Given the description of an element on the screen output the (x, y) to click on. 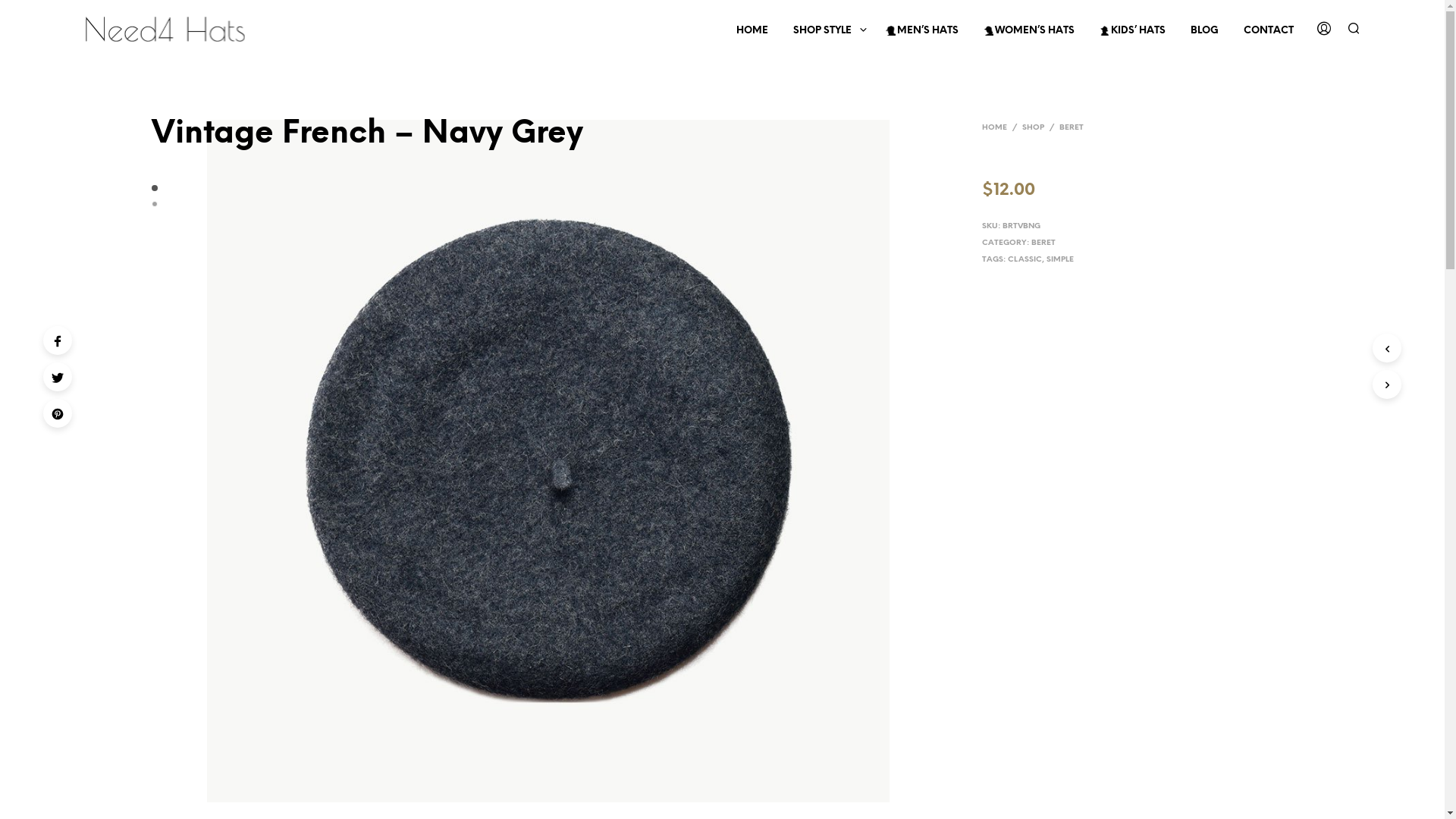
BERET Element type: text (1071, 127)
Facebook Element type: hover (57, 340)
Twitter Element type: hover (57, 376)
CLASSIC Element type: text (1024, 259)
SIMPLE Element type: text (1059, 259)
HOME Element type: text (994, 127)
BERET Element type: text (1043, 242)
BLOG Element type: text (1203, 31)
CONTACT Element type: text (1267, 31)
Pinterest Element type: hover (57, 412)
SHOP STYLE Element type: text (821, 31)
HOME Element type: text (751, 31)
SHOP Element type: text (1033, 127)
